Given the description of an element on the screen output the (x, y) to click on. 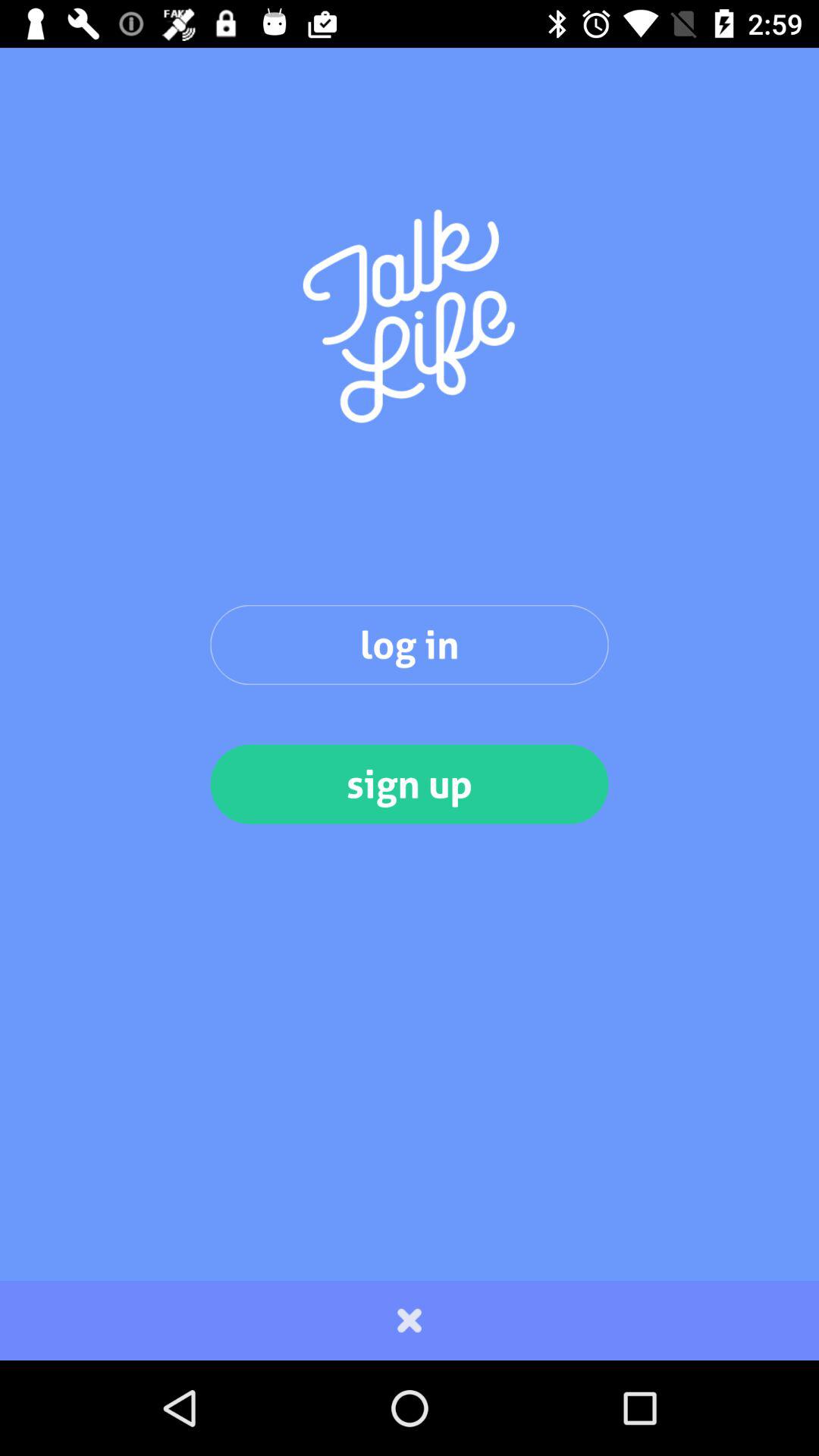
swipe to log in (409, 644)
